Given the description of an element on the screen output the (x, y) to click on. 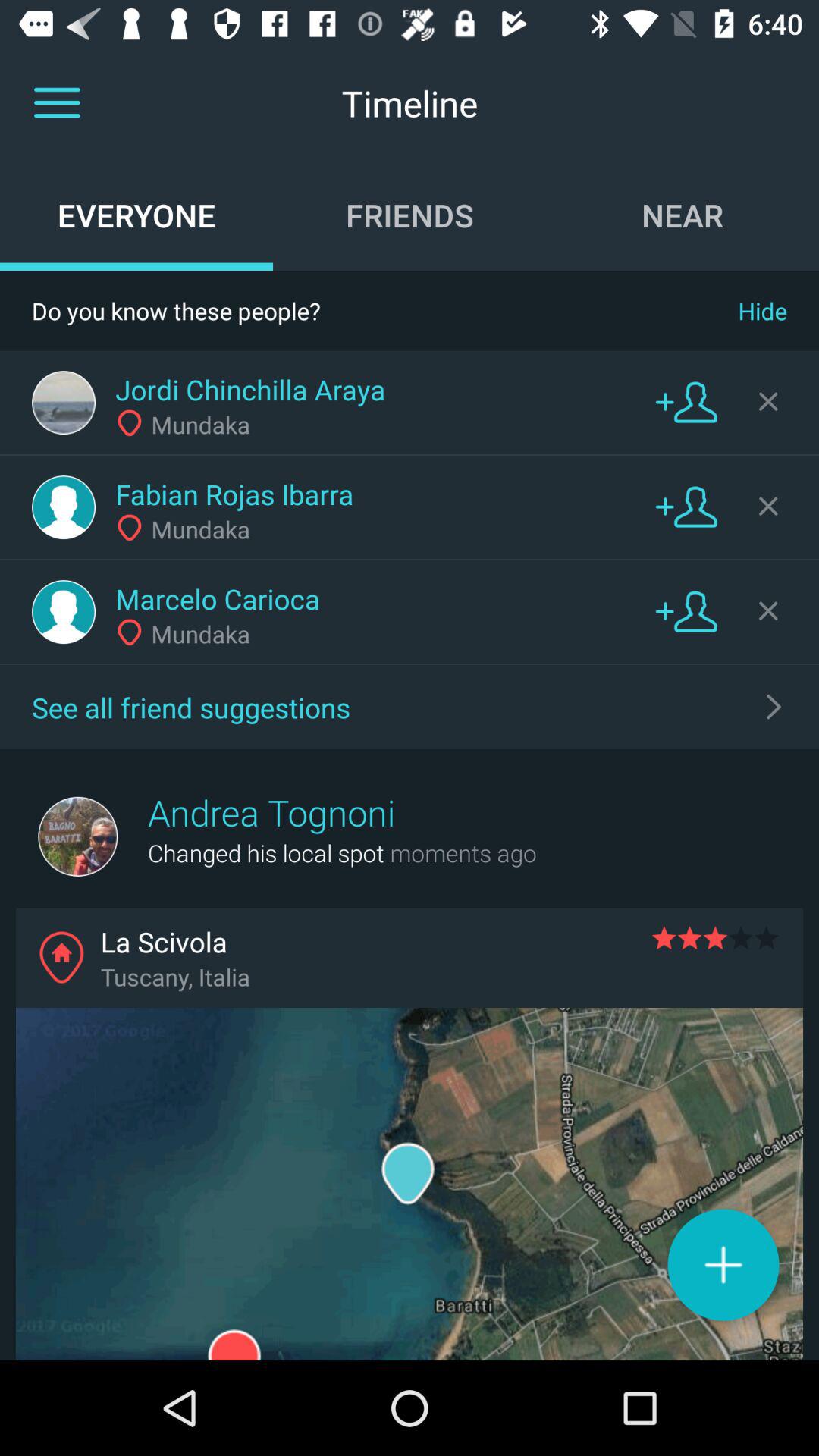
enlarge map (409, 1183)
